Given the description of an element on the screen output the (x, y) to click on. 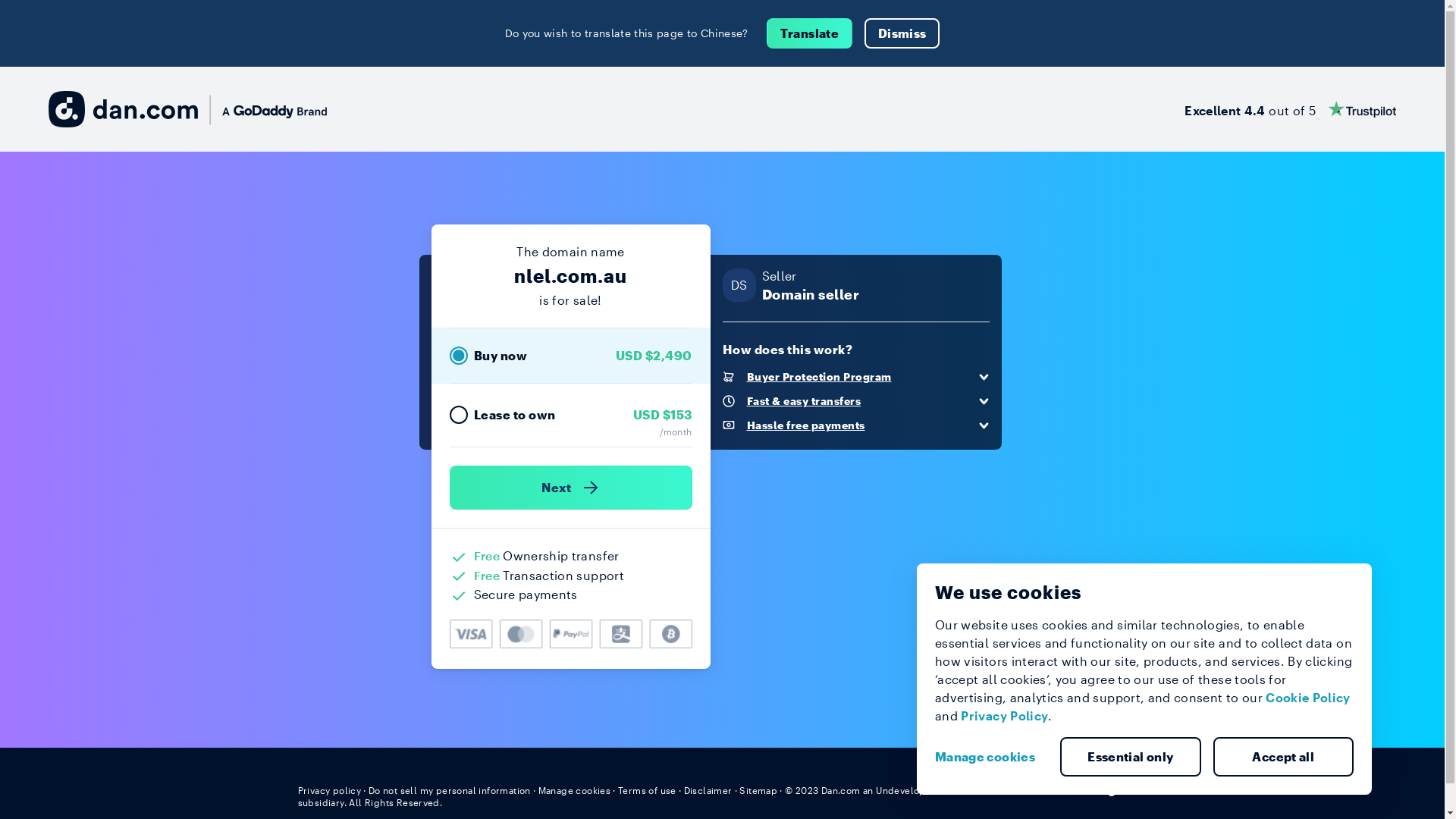
Privacy policy Element type: text (328, 789)
Accept all Element type: text (1283, 756)
Excellent 4.4 out of 5 Element type: text (1290, 109)
Essential only Element type: text (1130, 756)
Do not sell my personal information Element type: text (449, 789)
English Element type: text (1119, 789)
Privacy Policy Element type: text (1004, 715)
Terms of use Element type: text (647, 789)
Manage cookies Element type: text (991, 756)
Manage cookies Element type: text (574, 790)
Sitemap Element type: text (758, 789)
Disclaimer Element type: text (708, 789)
Next
) Element type: text (569, 487)
Cookie Policy Element type: text (1307, 697)
Dismiss Element type: text (901, 33)
Translate Element type: text (809, 33)
